Given the description of an element on the screen output the (x, y) to click on. 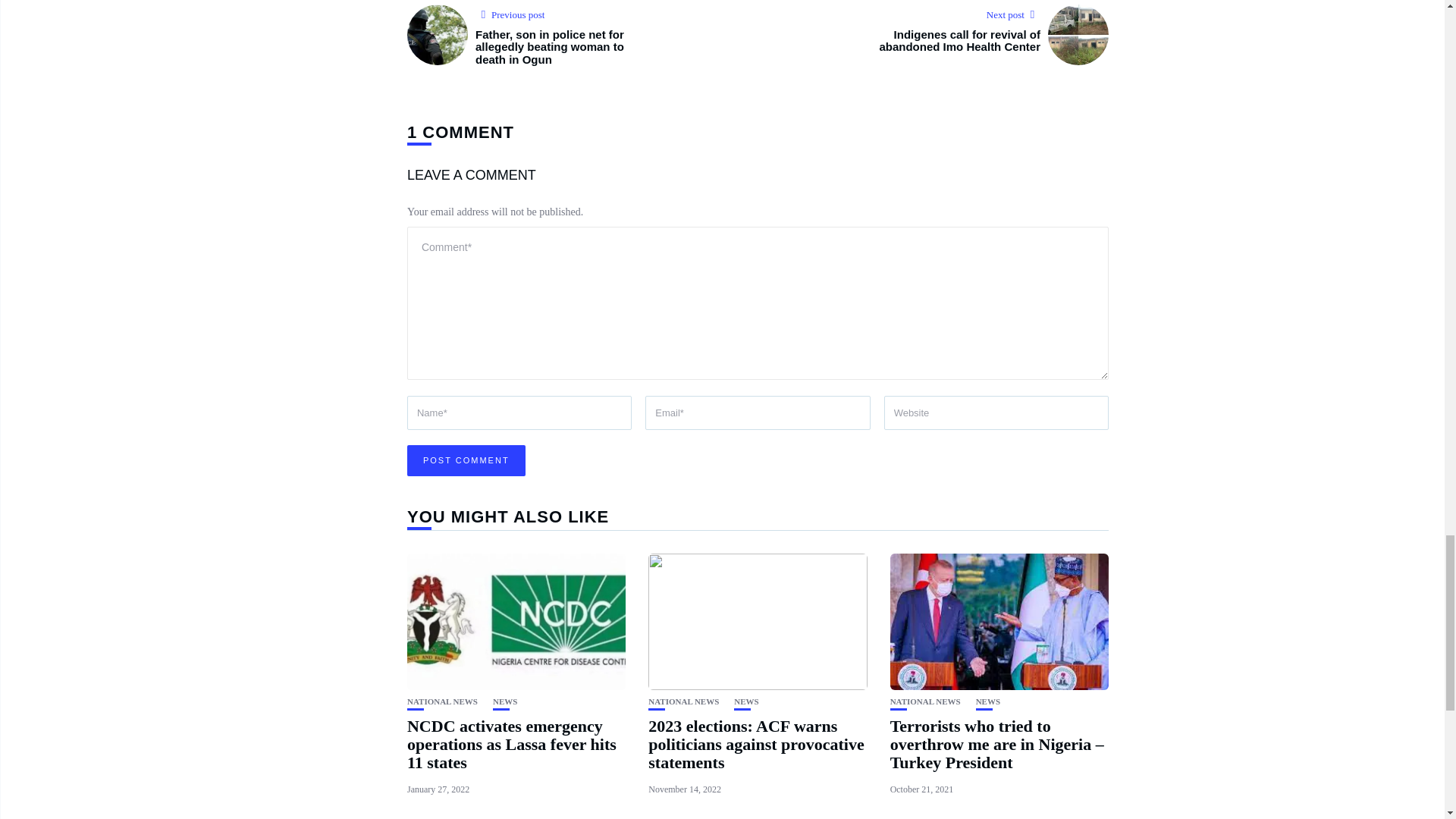
Post Comment (466, 460)
